Given the description of an element on the screen output the (x, y) to click on. 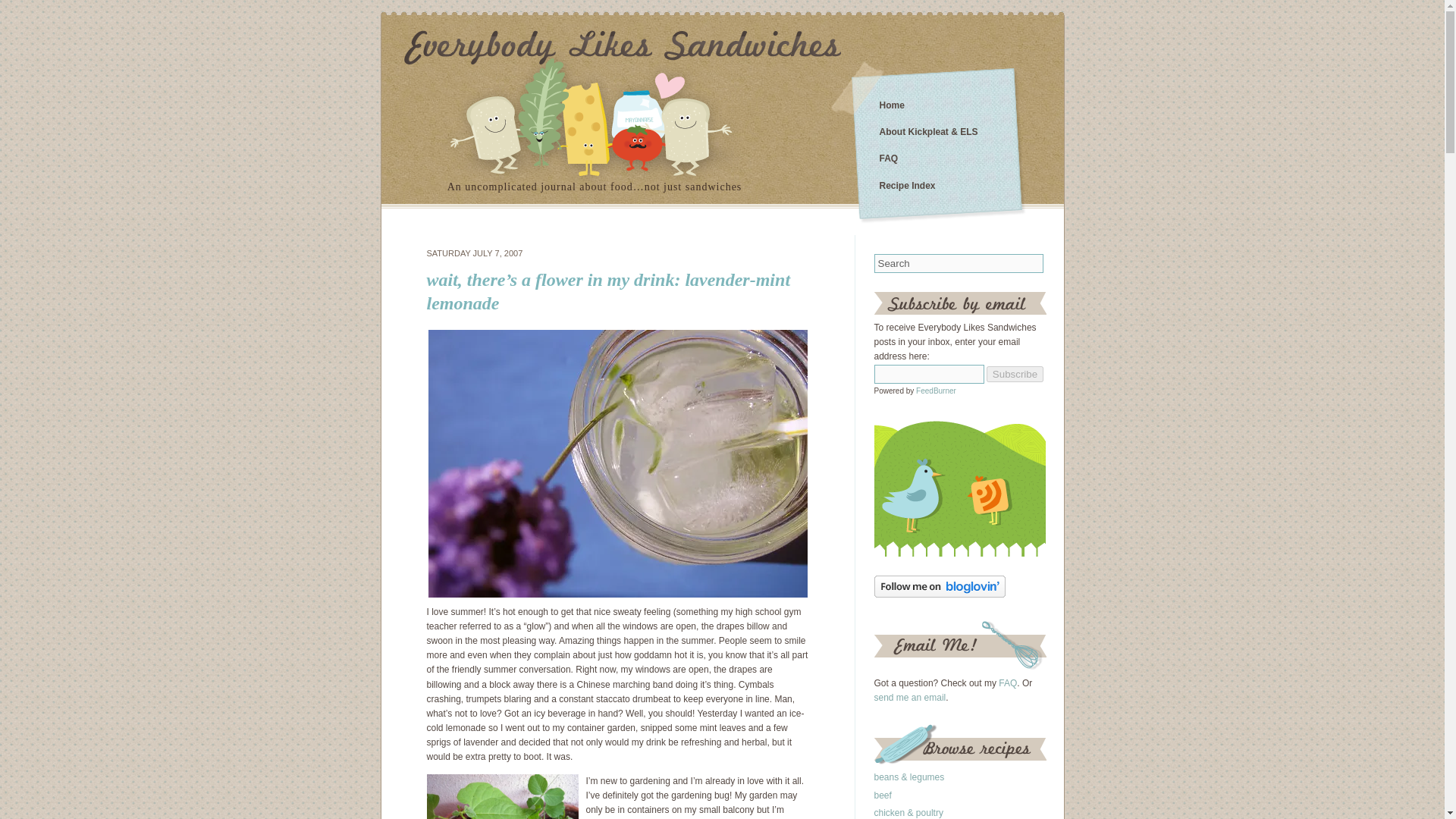
Home (891, 105)
Search (958, 262)
Recipe Index (907, 185)
FAQ (888, 158)
Everybody Likes Sandwiches (891, 105)
Subscribe (1015, 374)
Everybody Likes Sandwiches (621, 47)
